Given the description of an element on the screen output the (x, y) to click on. 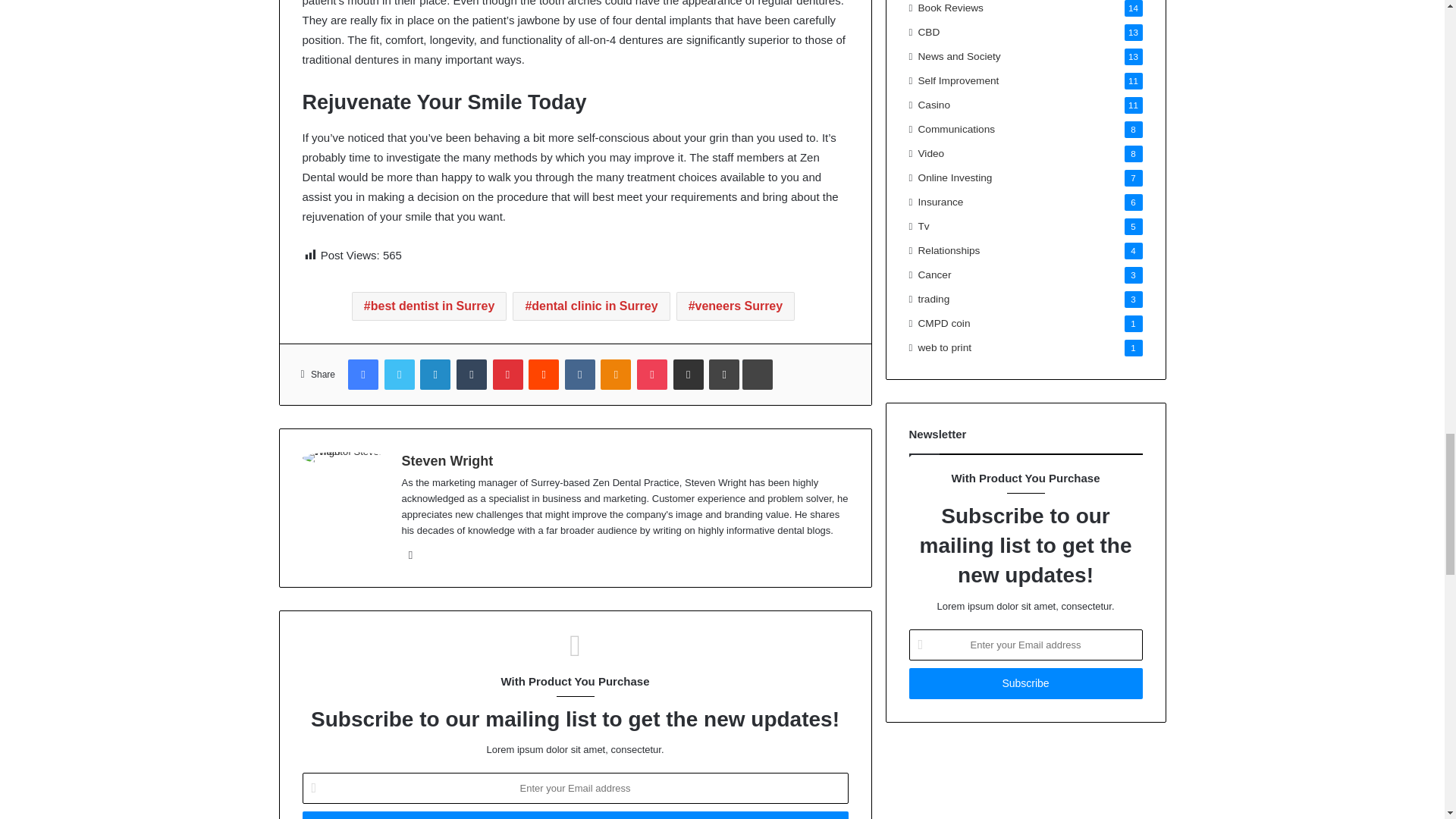
Subscribe (574, 815)
Subscribe (1025, 683)
